Given the description of an element on the screen output the (x, y) to click on. 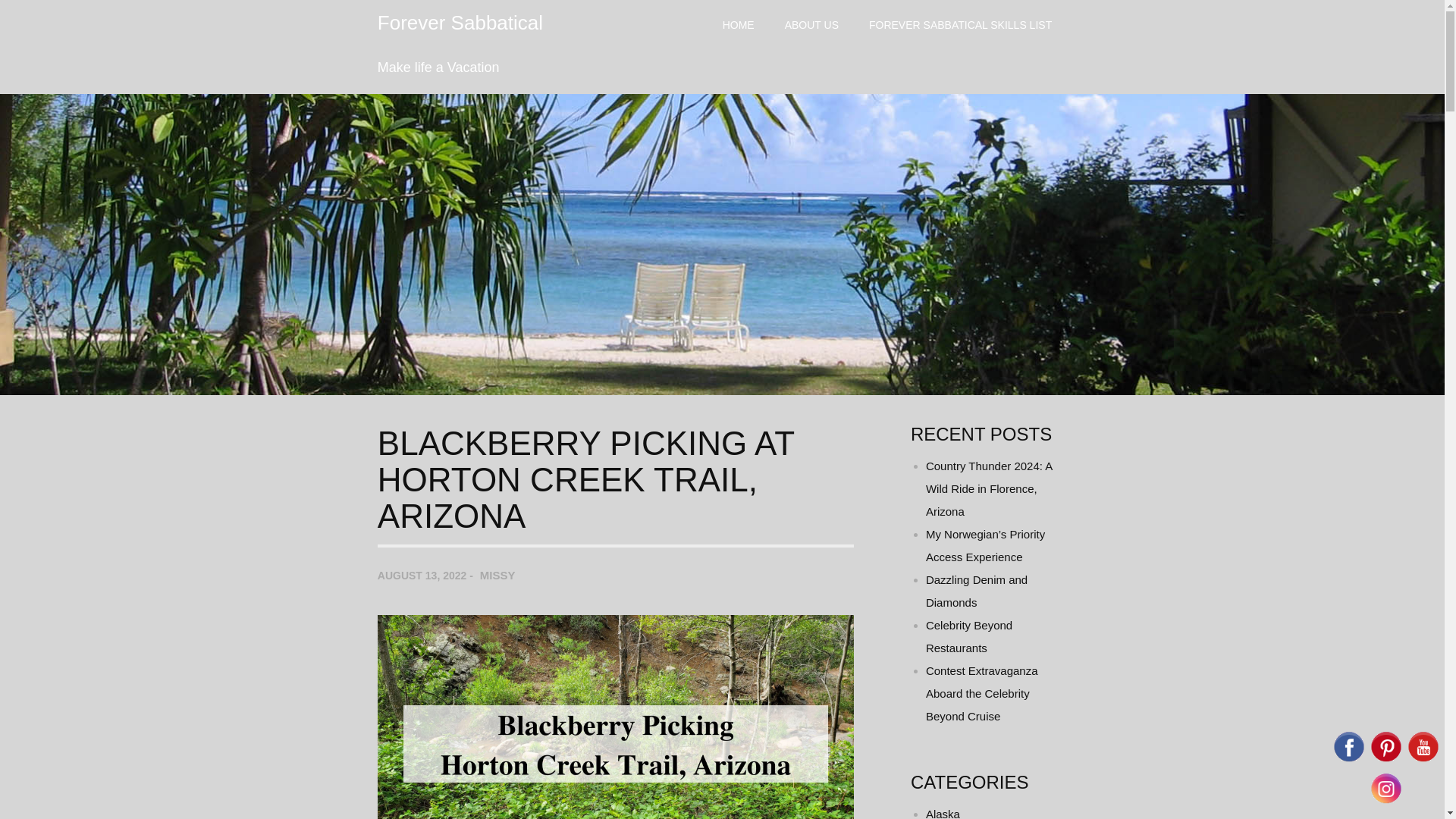
Visit Us On Facebook (1348, 759)
MISSY (497, 574)
Visit Us On Pinterest (1386, 759)
Country Thunder 2024: A Wild Ride in Florence, Arizona (989, 488)
Visit Us On Youtube (1423, 759)
Visit Us On Instagram (1386, 801)
Forever Sabbatical (460, 22)
FOREVER SABBATICAL SKILLS LIST (960, 24)
HOME (738, 24)
ABOUT US (811, 24)
AUGUST 13, 2022 (422, 575)
